Given the description of an element on the screen output the (x, y) to click on. 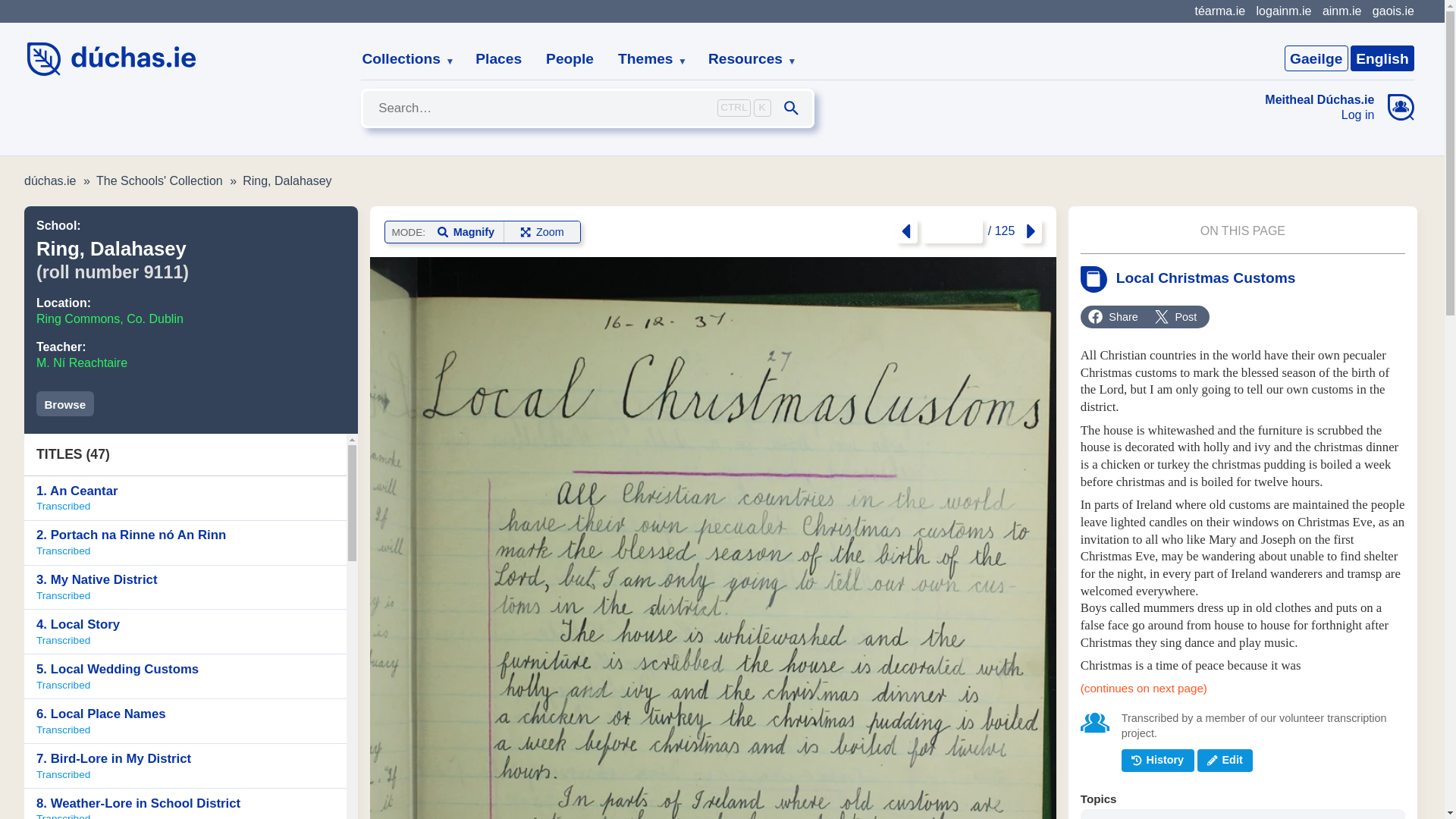
Ring Commons, Co. Dublin (109, 318)
ainm.ie (1341, 11)
gaois.ie (1393, 11)
Collections (401, 59)
English (1382, 58)
logainm.ie (1283, 11)
Gaeilge (1316, 58)
Places (185, 497)
The Schools' Collection (498, 58)
